Given the description of an element on the screen output the (x, y) to click on. 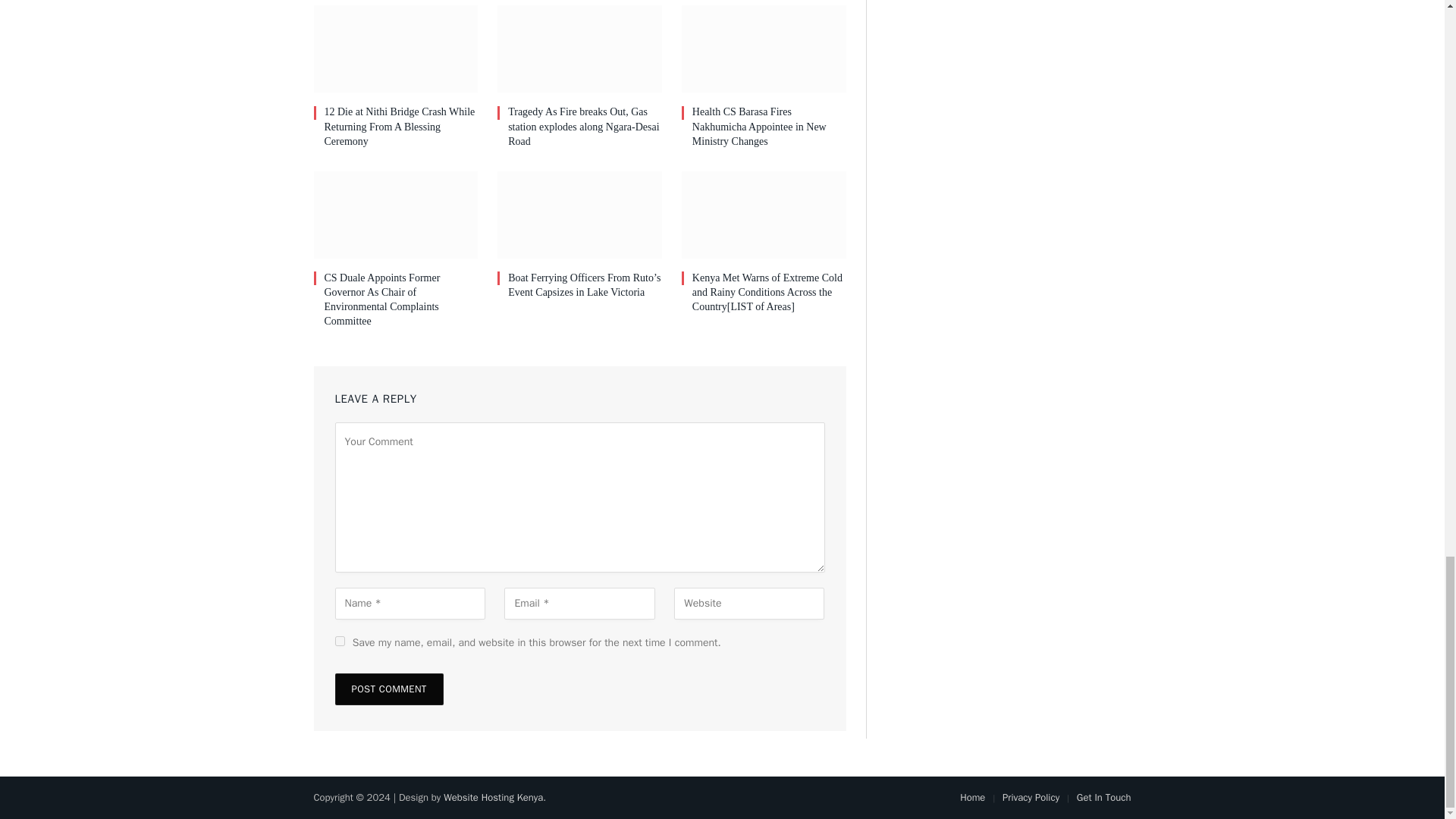
yes (339, 641)
Post Comment (389, 689)
